Given the description of an element on the screen output the (x, y) to click on. 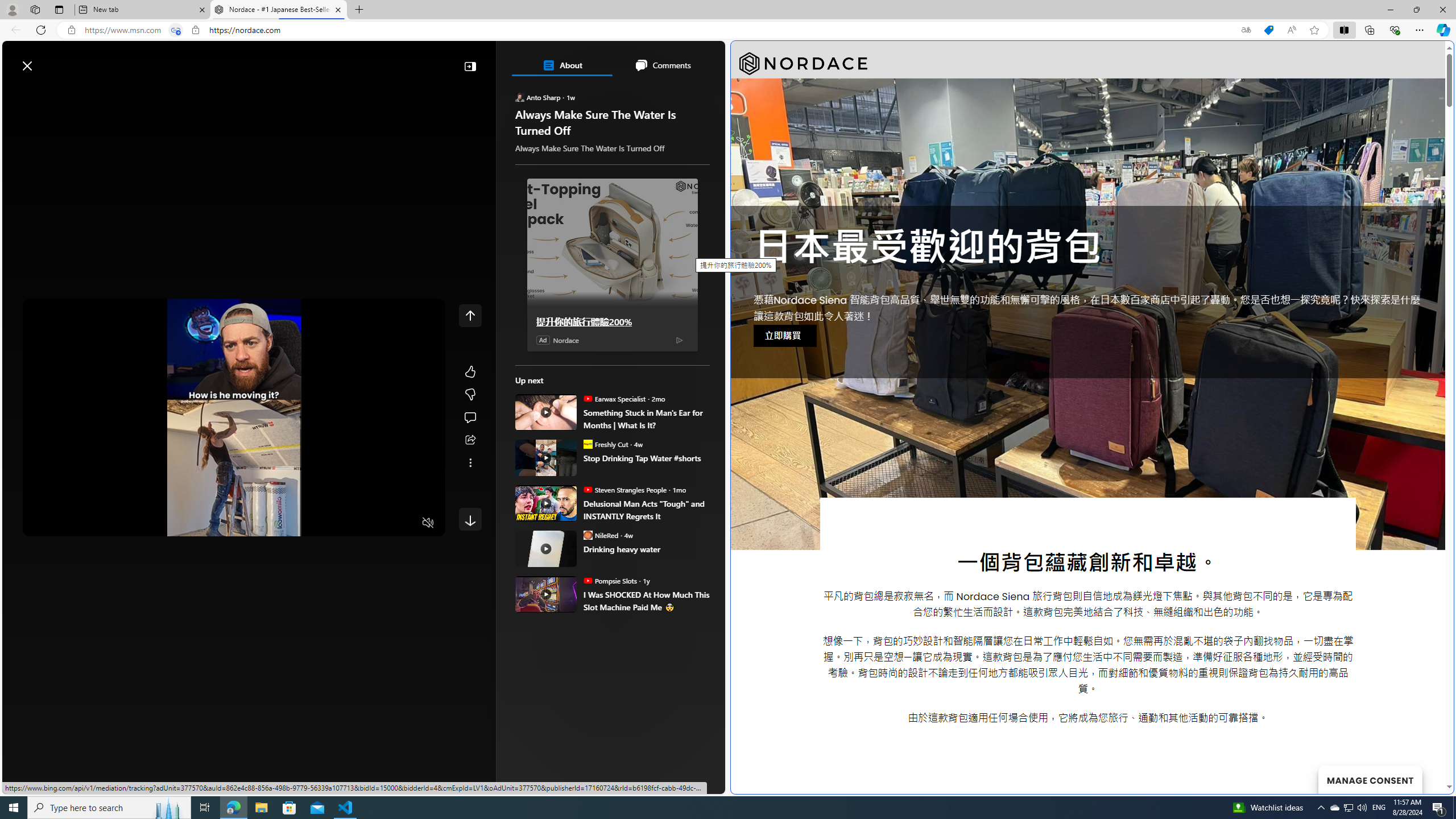
Progress Bar (234, 508)
Fullscreen (405, 523)
AutomationID: e5rZOEMGacU1 (469, 518)
NileRed NileRed (600, 534)
Watch (141, 92)
MANAGE CONSENT (1369, 779)
Nordace - #1 Japanese Best-Seller - Siena Smart Backpack (277, 9)
